Given the description of an element on the screen output the (x, y) to click on. 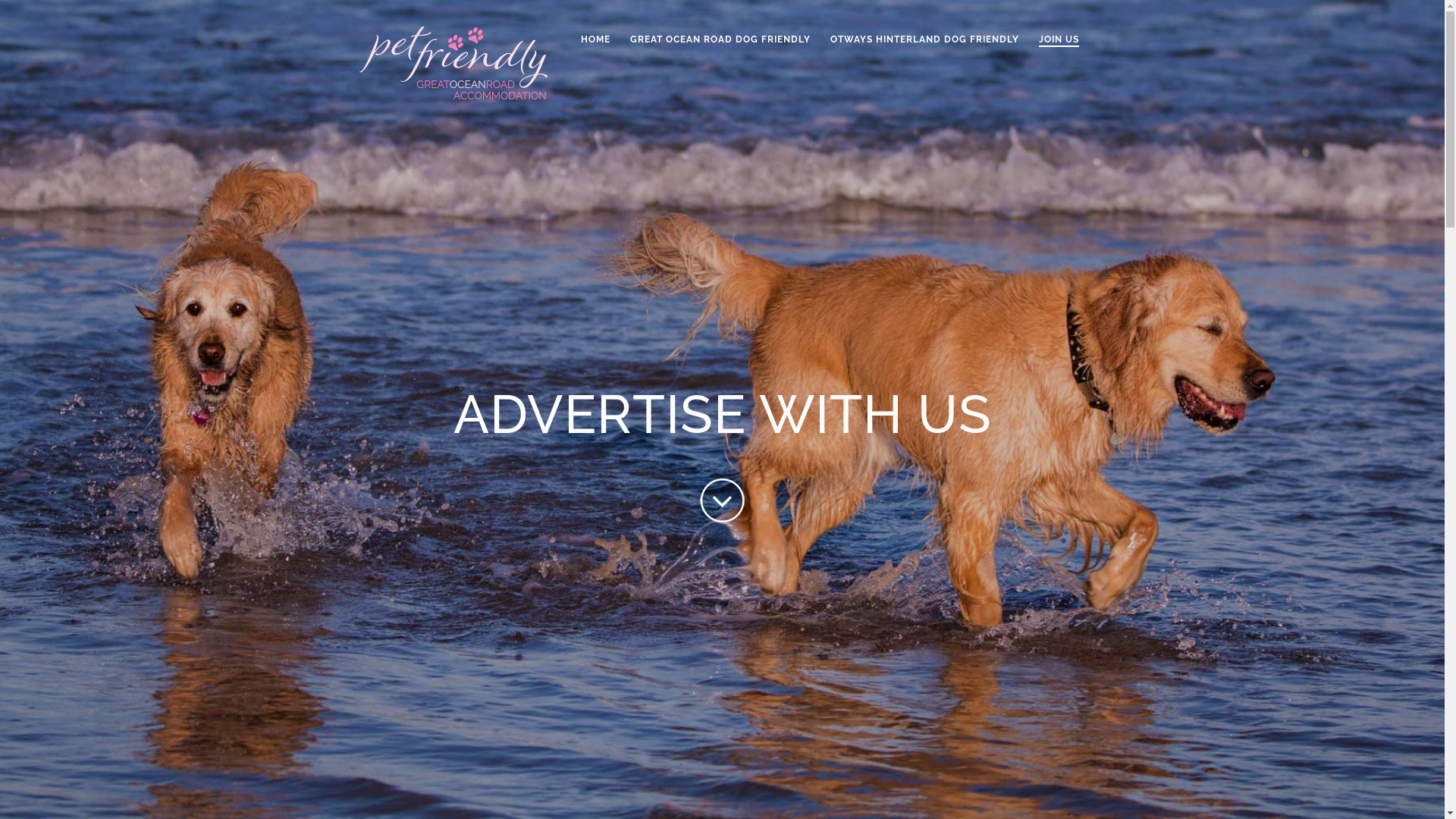
HOME Element type: text (595, 51)
OTWAYS HINTERLAND DOG FRIENDLY Element type: text (924, 51)
GREAT OCEAN ROAD DOG FRIENDLY Element type: text (719, 51)
JOIN US Element type: text (1058, 51)
